Given the description of an element on the screen output the (x, y) to click on. 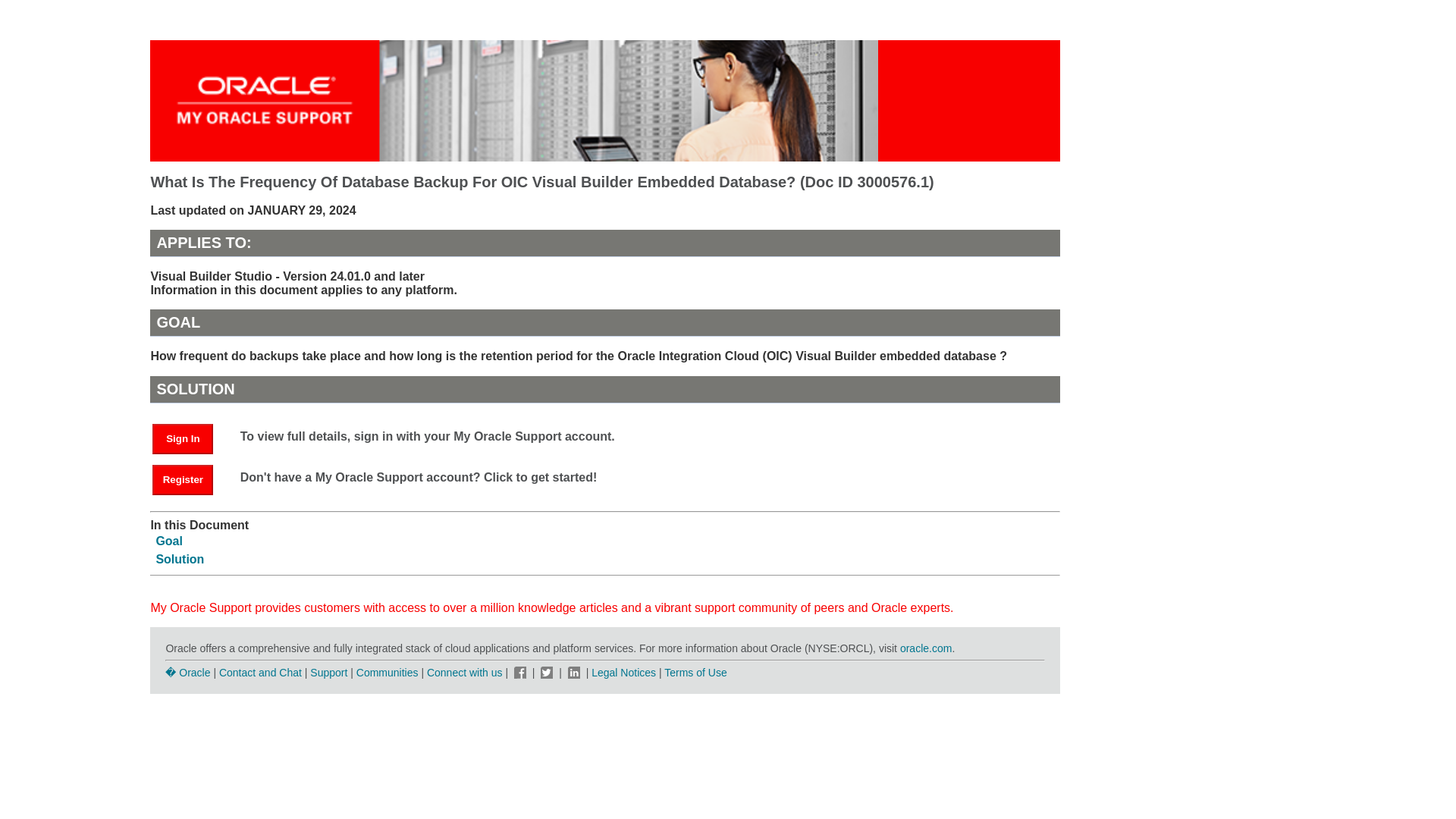
Connect with us (465, 672)
Sign In (190, 437)
Legal Notices (623, 672)
Support (328, 672)
Sign In (182, 439)
Register (190, 478)
Contact and Chat (260, 672)
oracle.com (925, 648)
Terms of Use (694, 672)
oracle.com (925, 648)
